Given the description of an element on the screen output the (x, y) to click on. 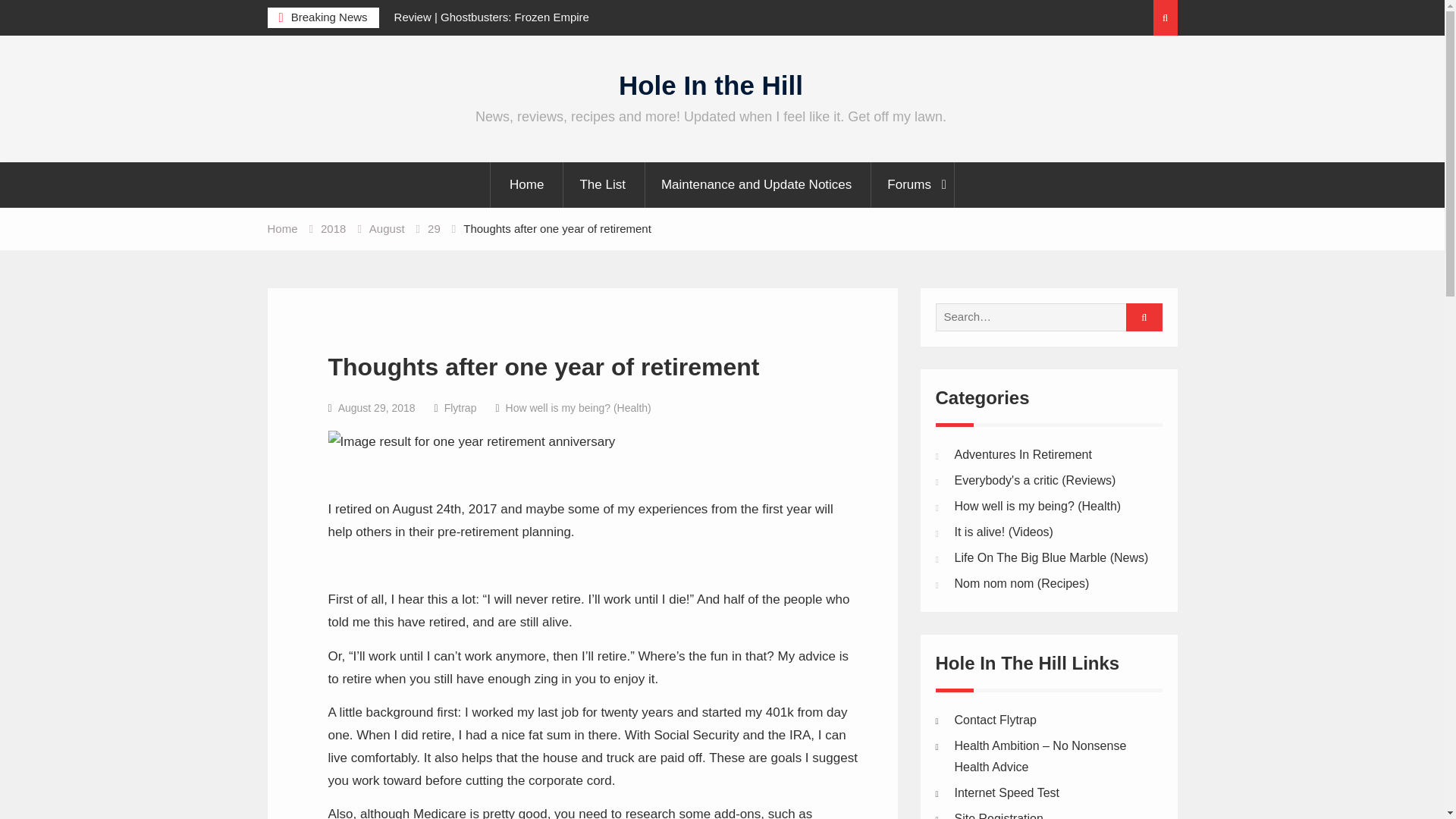
Test your Internet connection speed. (1005, 792)
Home (526, 185)
The List (602, 185)
Home (281, 227)
2018 (333, 227)
August 29, 2018 (375, 408)
Flytrap (460, 408)
29 (434, 227)
Hole In the Hill (710, 84)
Contact me (994, 719)
Search for: (1043, 317)
Are You Making  The Healthiest Lifestyle Choices? (1039, 756)
Click here to register on this site (997, 815)
Forums (911, 185)
Maintenance and Update Notices (756, 185)
